Given the description of an element on the screen output the (x, y) to click on. 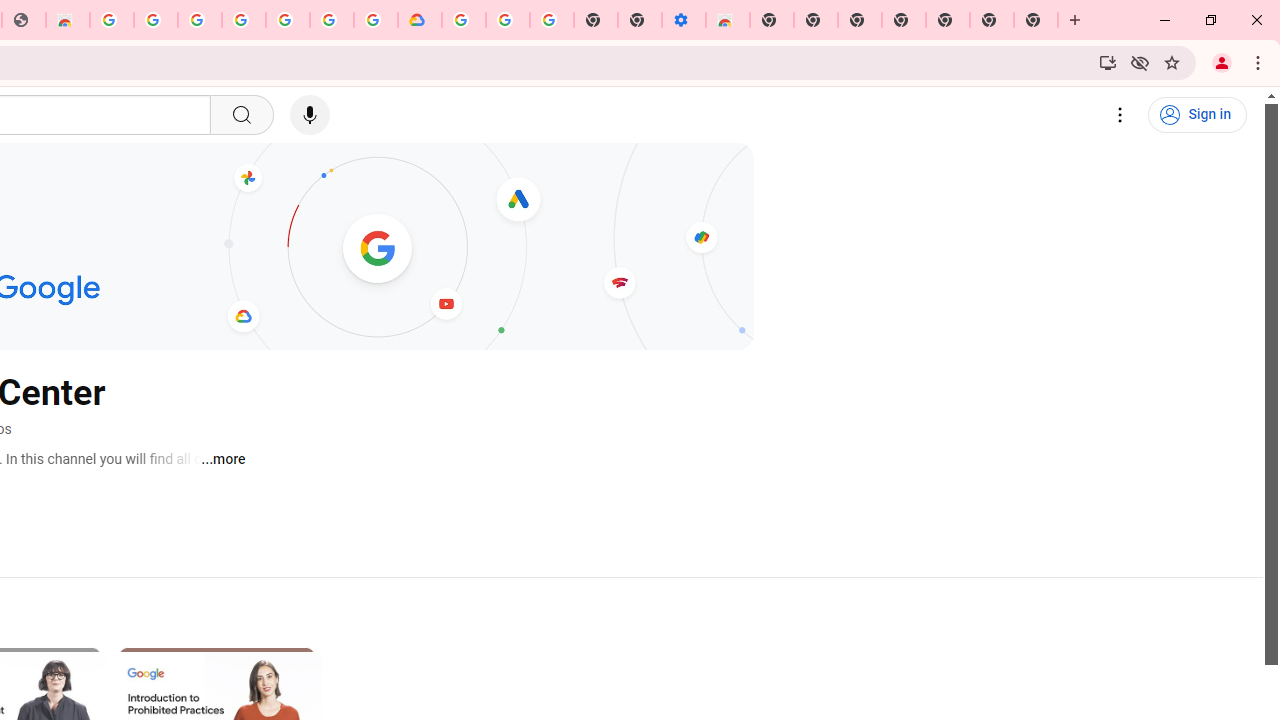
Google Account Help (507, 20)
